Given the description of an element on the screen output the (x, y) to click on. 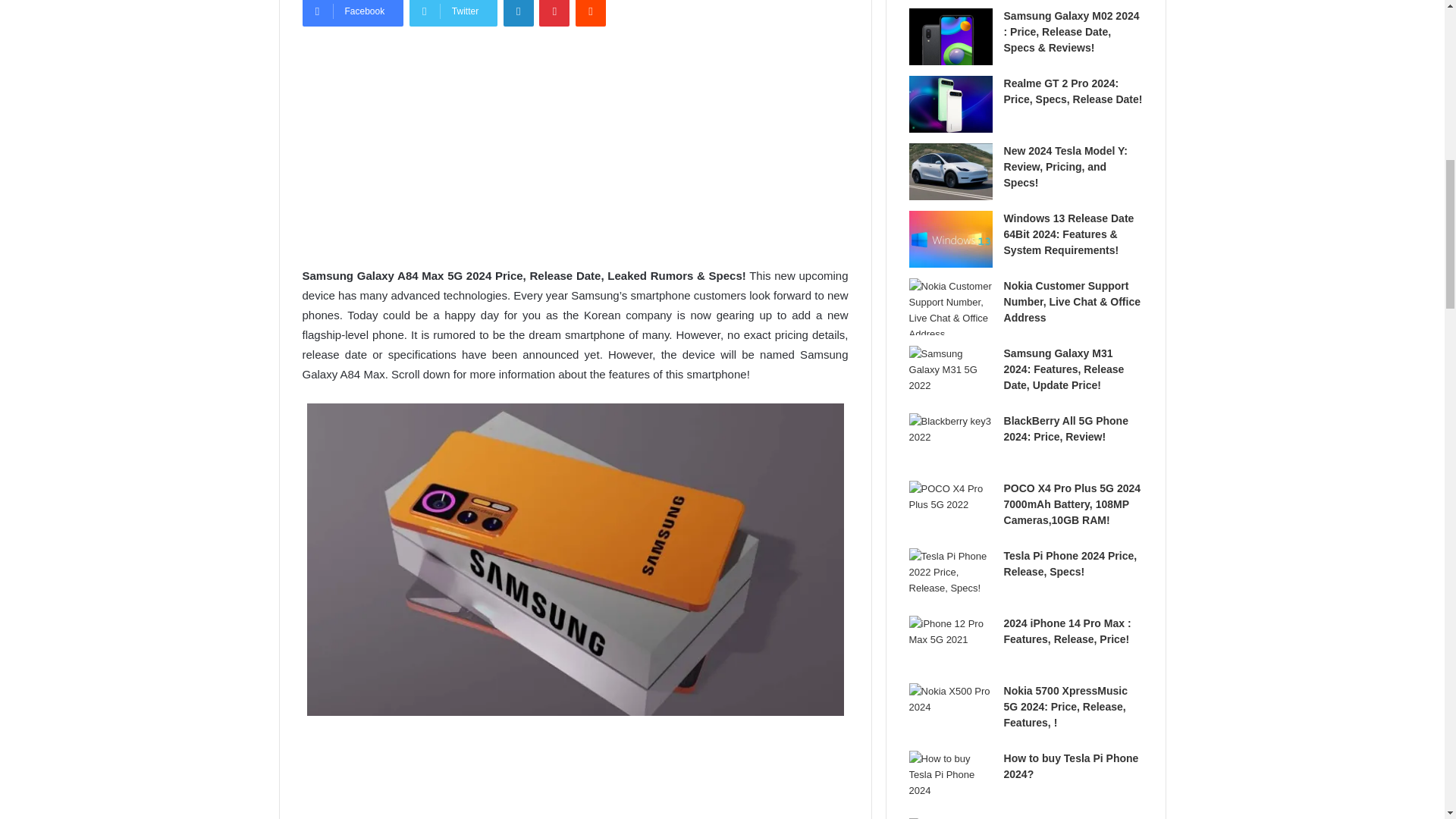
Pinterest (553, 13)
Twitter (453, 13)
Reddit (590, 13)
Pinterest (553, 13)
LinkedIn (518, 13)
Reddit (590, 13)
LinkedIn (518, 13)
Facebook (352, 13)
Facebook (352, 13)
Twitter (453, 13)
